Given the description of an element on the screen output the (x, y) to click on. 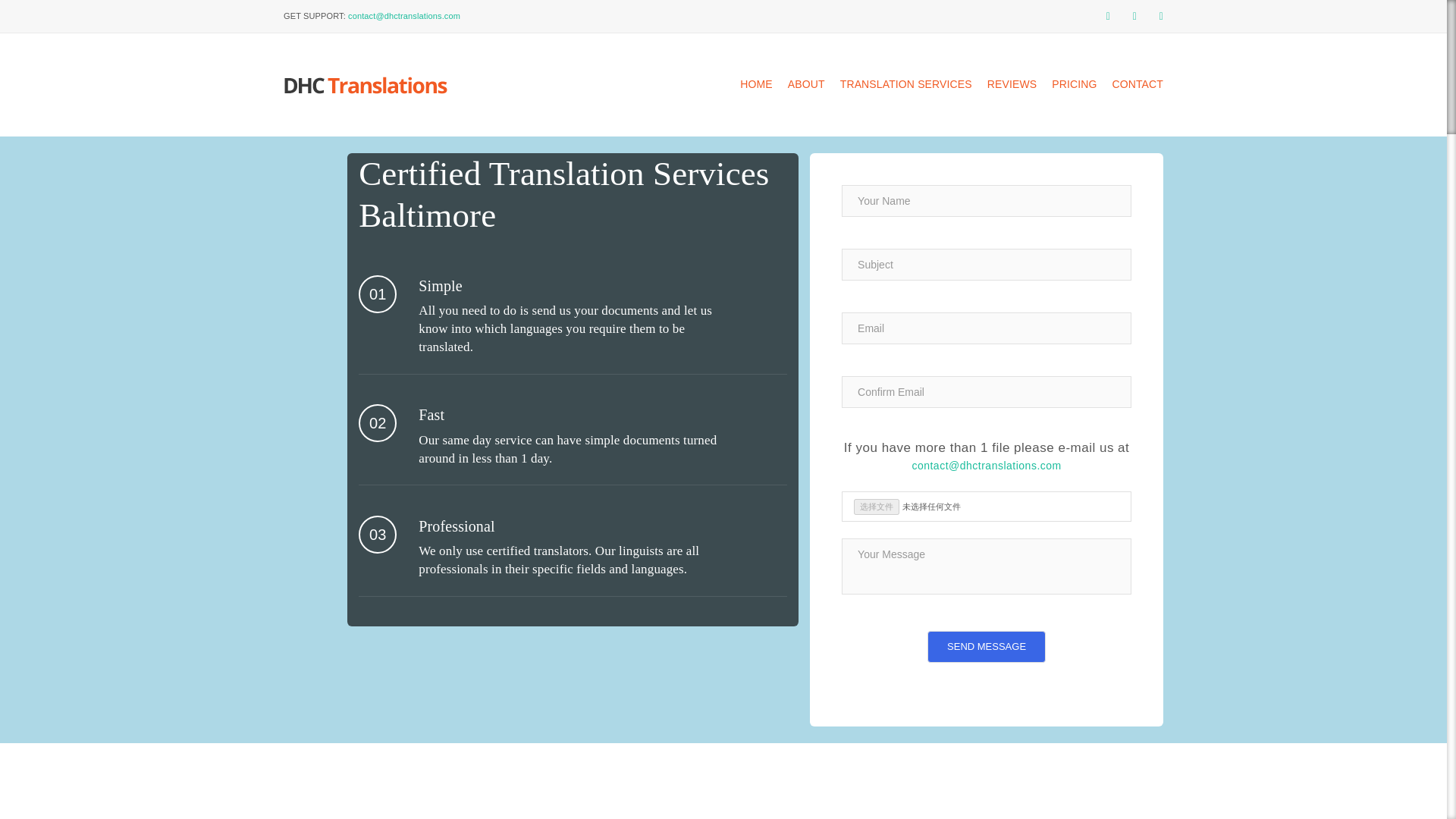
HOME (756, 84)
TRANSLATION SERVICES (906, 84)
CONTACT (1137, 84)
SEND MESSAGE (986, 646)
ABOUT (806, 84)
PRICING (1073, 84)
REVIEWS (1011, 84)
SEND MESSAGE (986, 646)
